Given the description of an element on the screen output the (x, y) to click on. 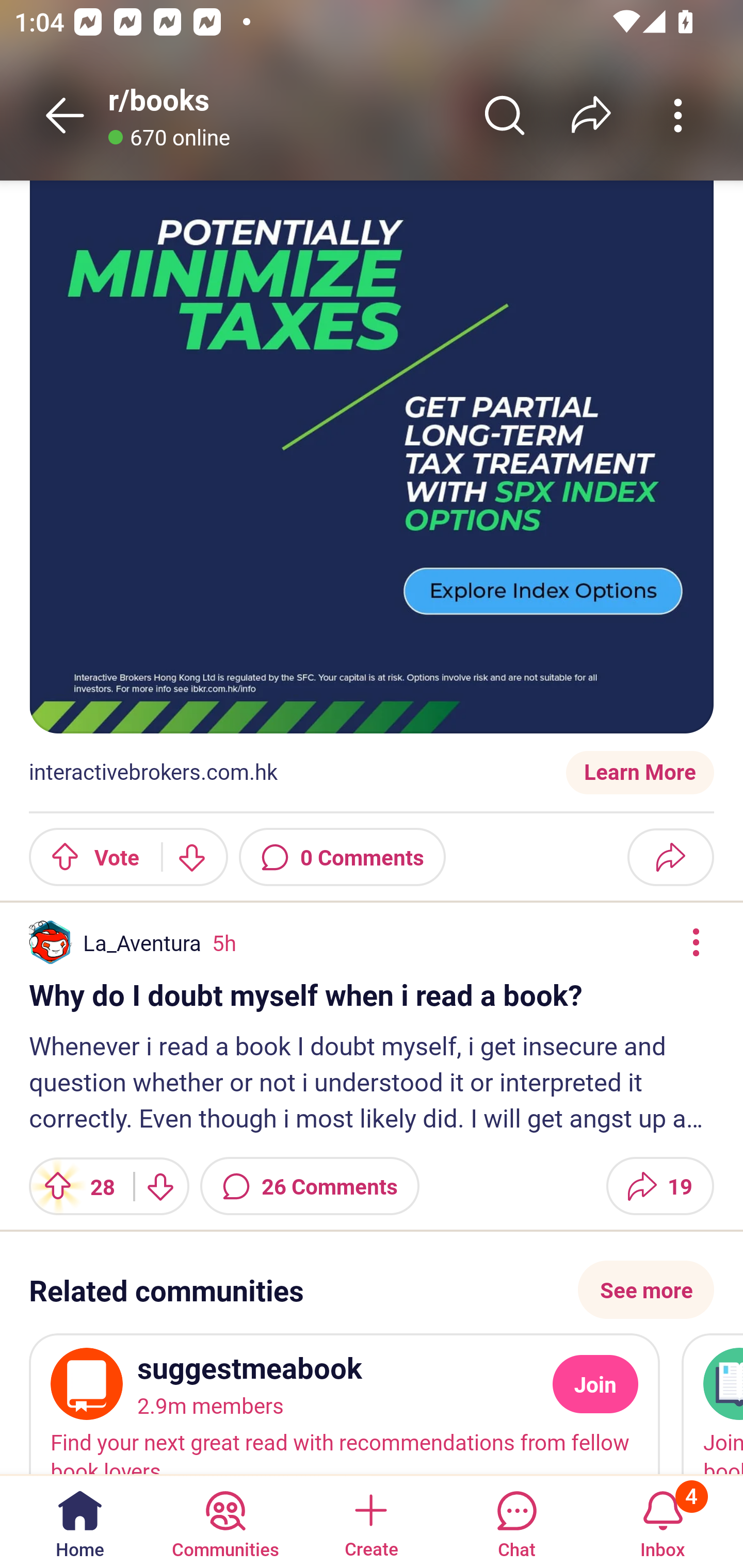
Back (64, 115)
Search r/﻿books (504, 115)
Share r/﻿books (591, 115)
More community actions (677, 115)
Related communities See more (371, 1289)
See more (646, 1289)
Join (595, 1384)
Home (80, 1520)
Communities (225, 1520)
Create a post Create (370, 1520)
Chat (516, 1520)
Inbox, has 4 notifications 4 Inbox (662, 1520)
